Given the description of an element on the screen output the (x, y) to click on. 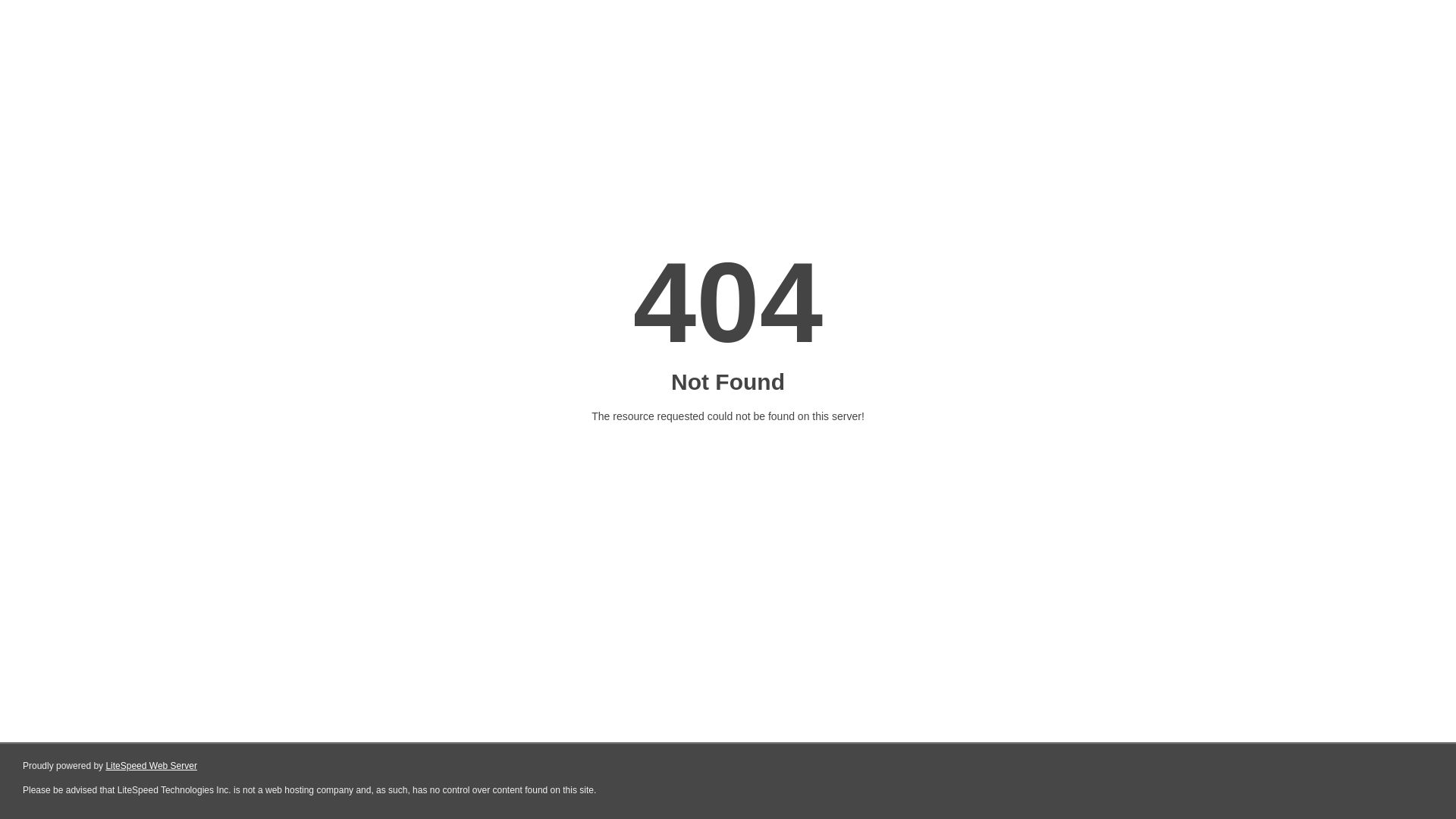
LiteSpeed Web Server Element type: text (151, 765)
